Given the description of an element on the screen output the (x, y) to click on. 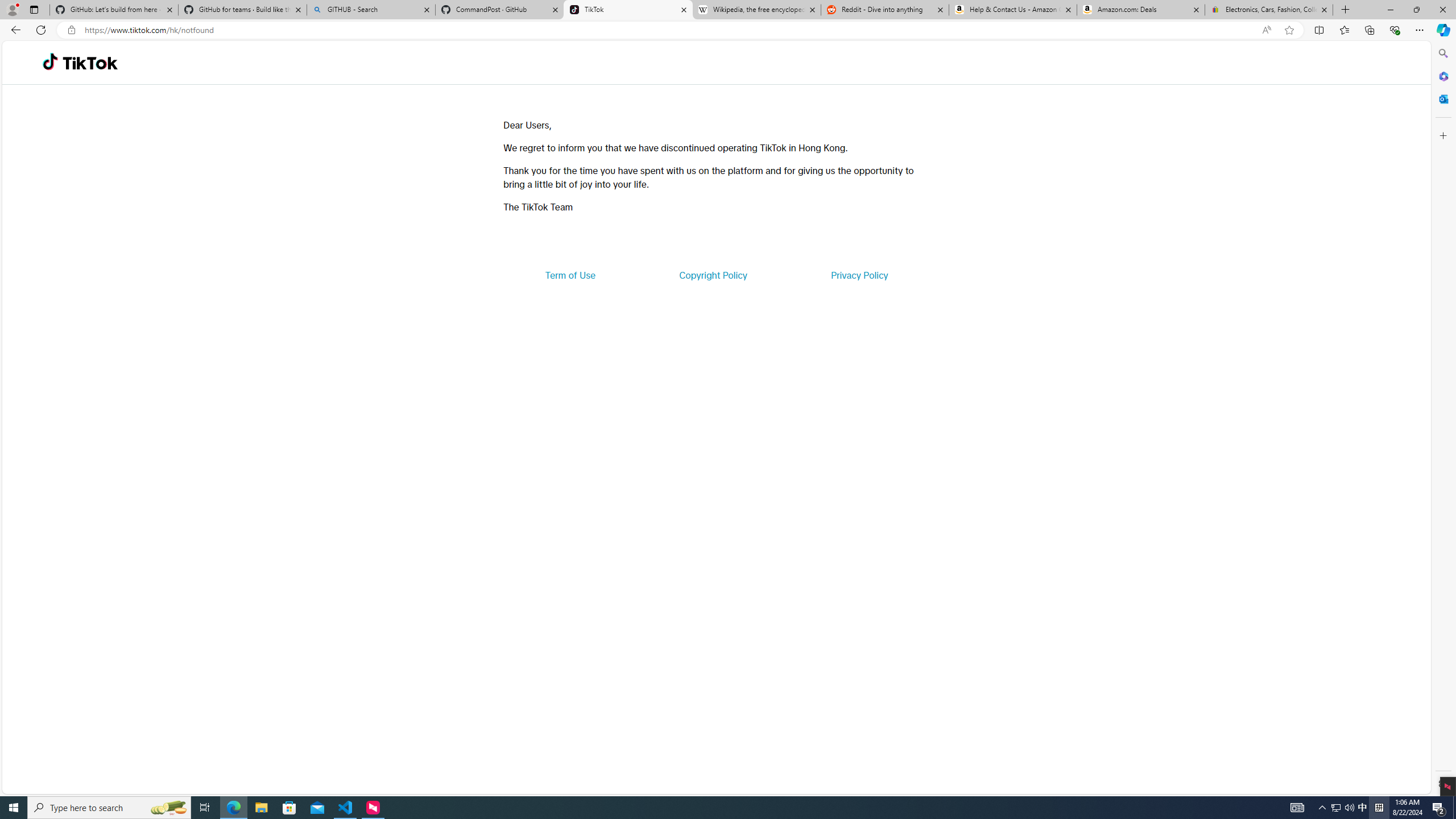
Privacy Policy (858, 274)
TikTok (628, 9)
TikTok (89, 62)
